Given the description of an element on the screen output the (x, y) to click on. 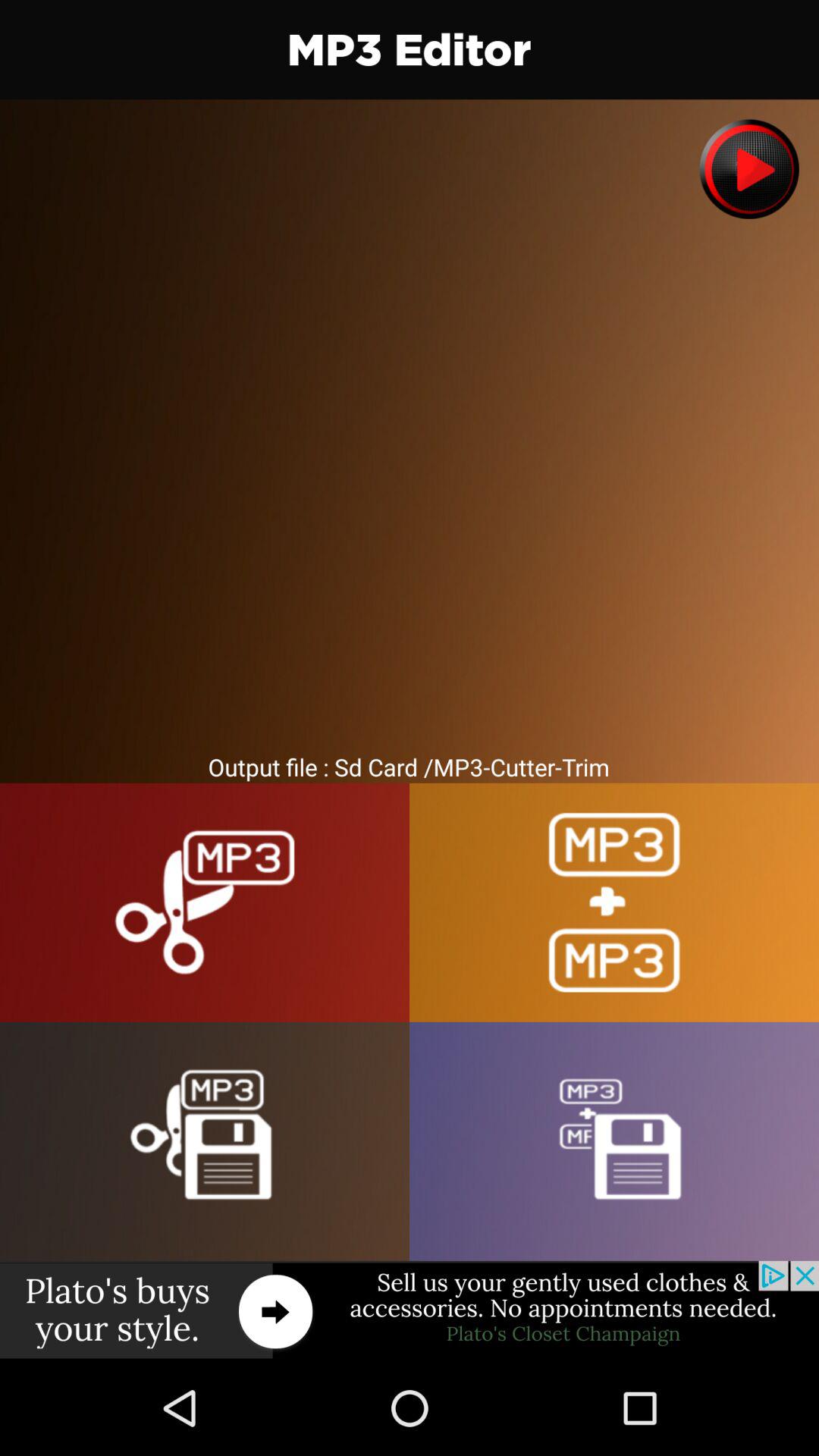
play song (749, 168)
